Given the description of an element on the screen output the (x, y) to click on. 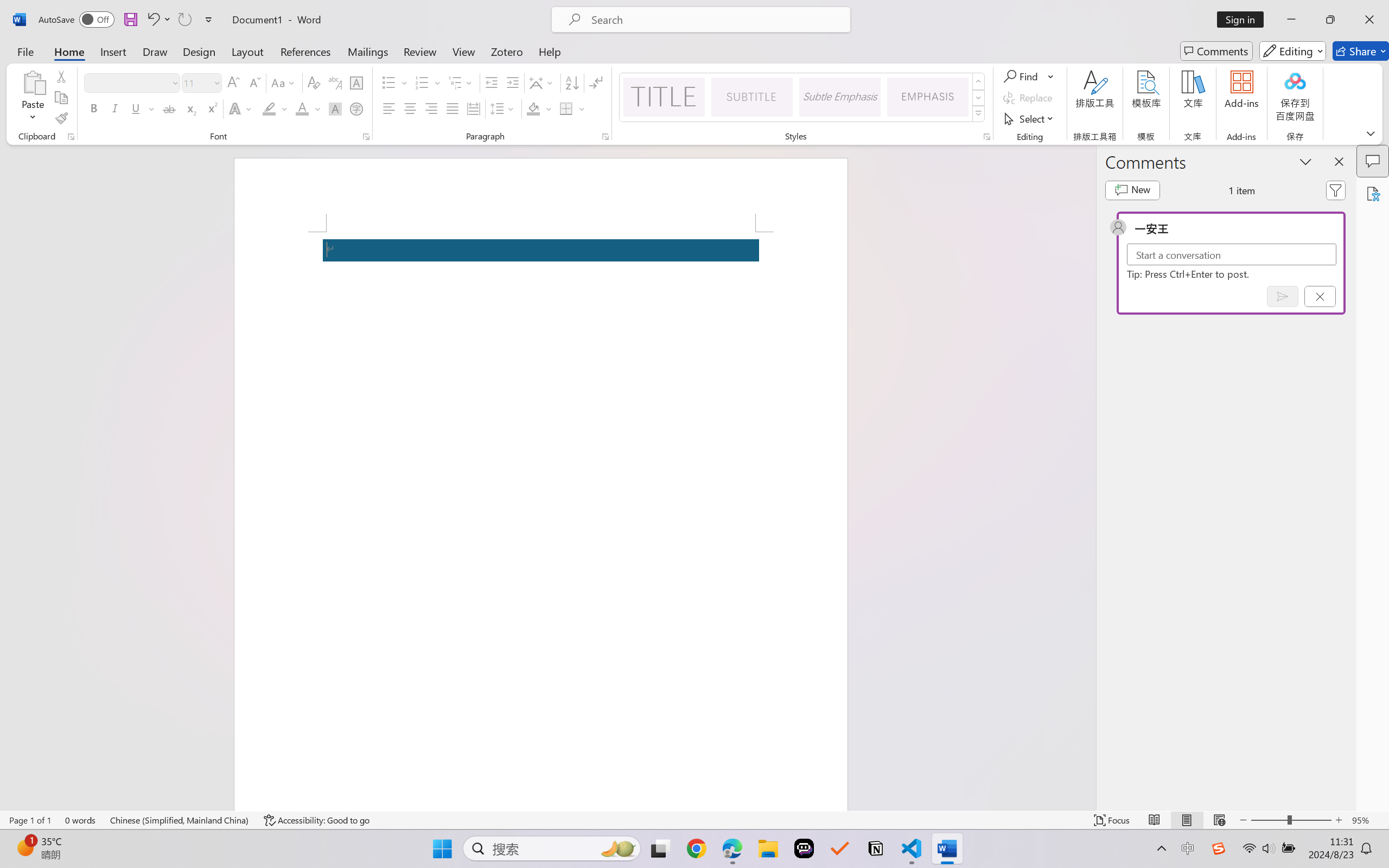
Undo Apply Quick Style Set (152, 19)
Editing (1292, 50)
Subtitle (751, 96)
